Given the description of an element on the screen output the (x, y) to click on. 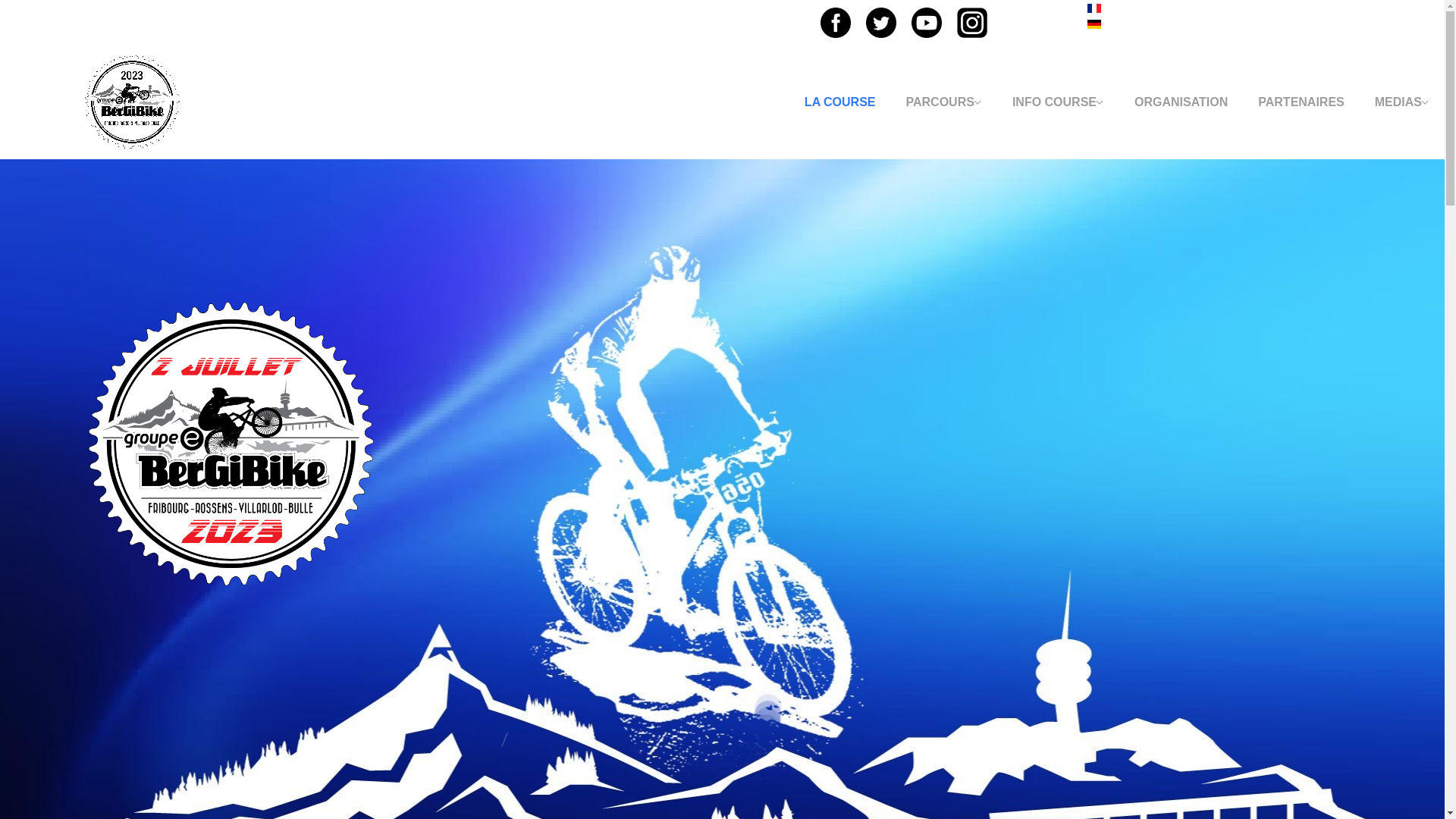
ORGANISATION Element type: text (1180, 102)
Allemand (DE) Element type: hover (1094, 23)
MEDIAS Element type: text (1401, 102)
PARCOURS Element type: text (943, 102)
INFO COURSE Element type: text (1058, 102)
PARTENAIRES Element type: text (1300, 102)
LA COURSE Element type: text (840, 102)
